Given the description of an element on the screen output the (x, y) to click on. 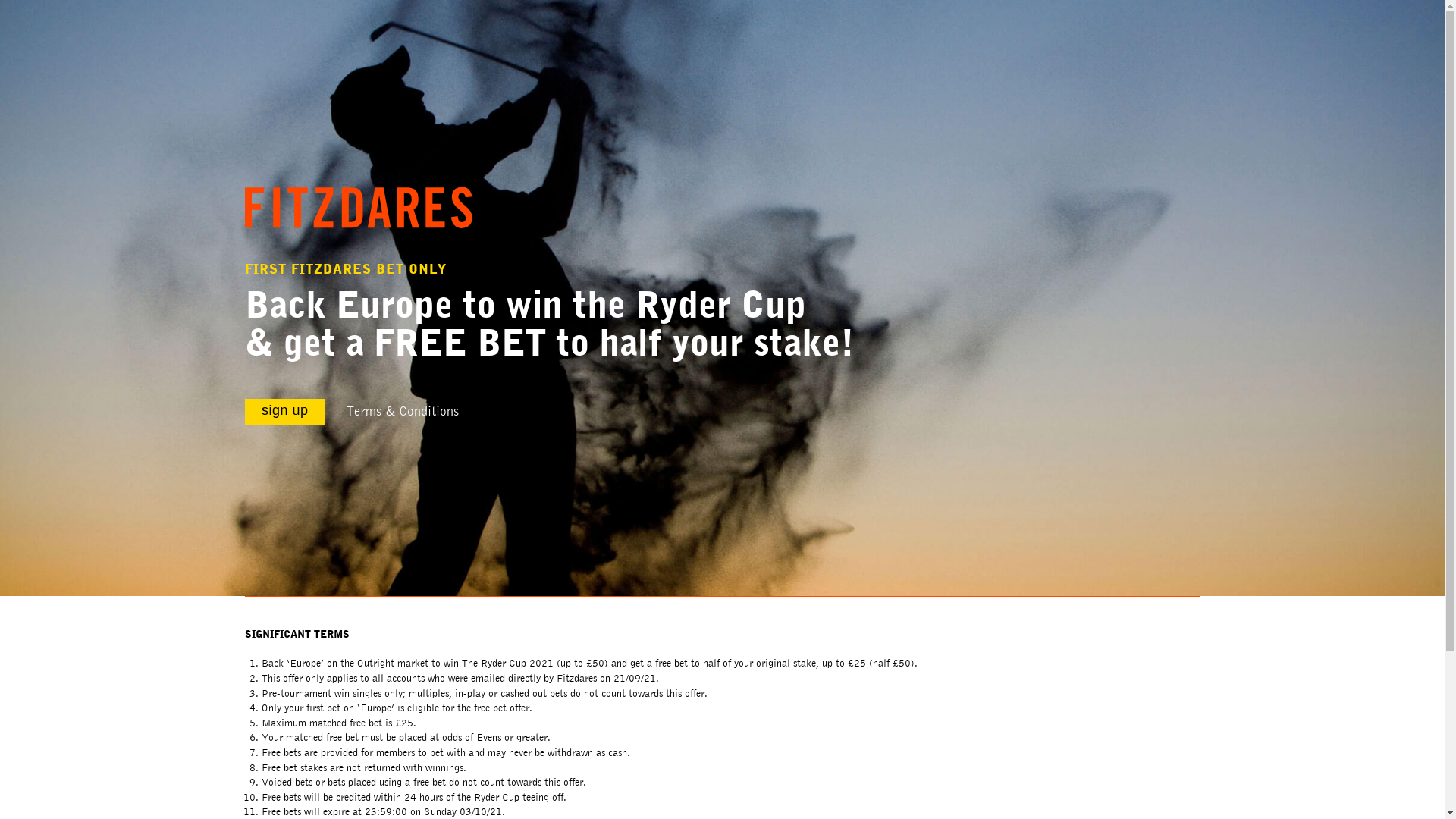
sign up (285, 411)
